Given the description of an element on the screen output the (x, y) to click on. 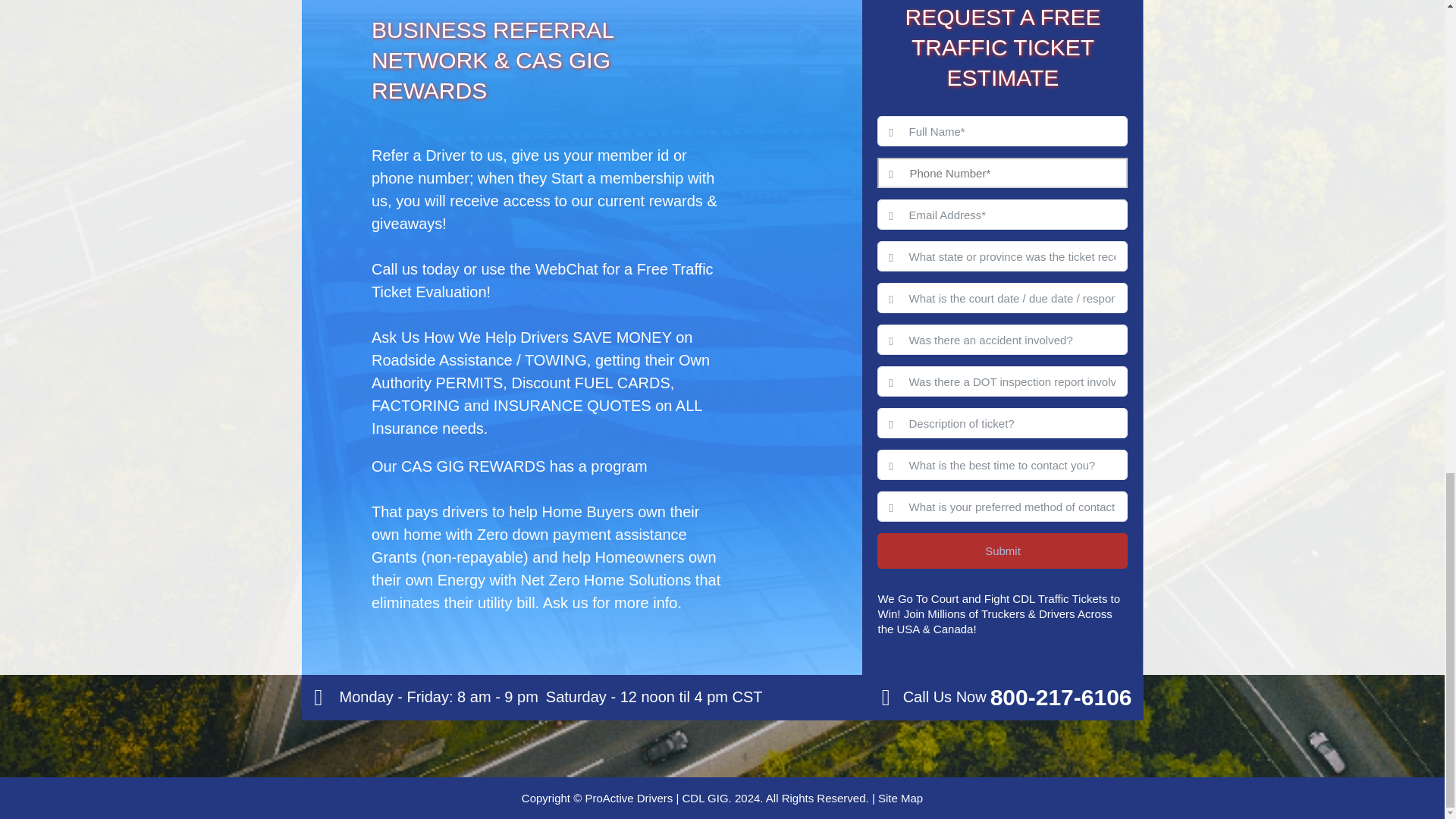
Call Us Now (1061, 697)
800-217-6106 (1061, 697)
Site Map (897, 797)
Submit (1001, 550)
Submit The Message (1001, 550)
